Given the description of an element on the screen output the (x, y) to click on. 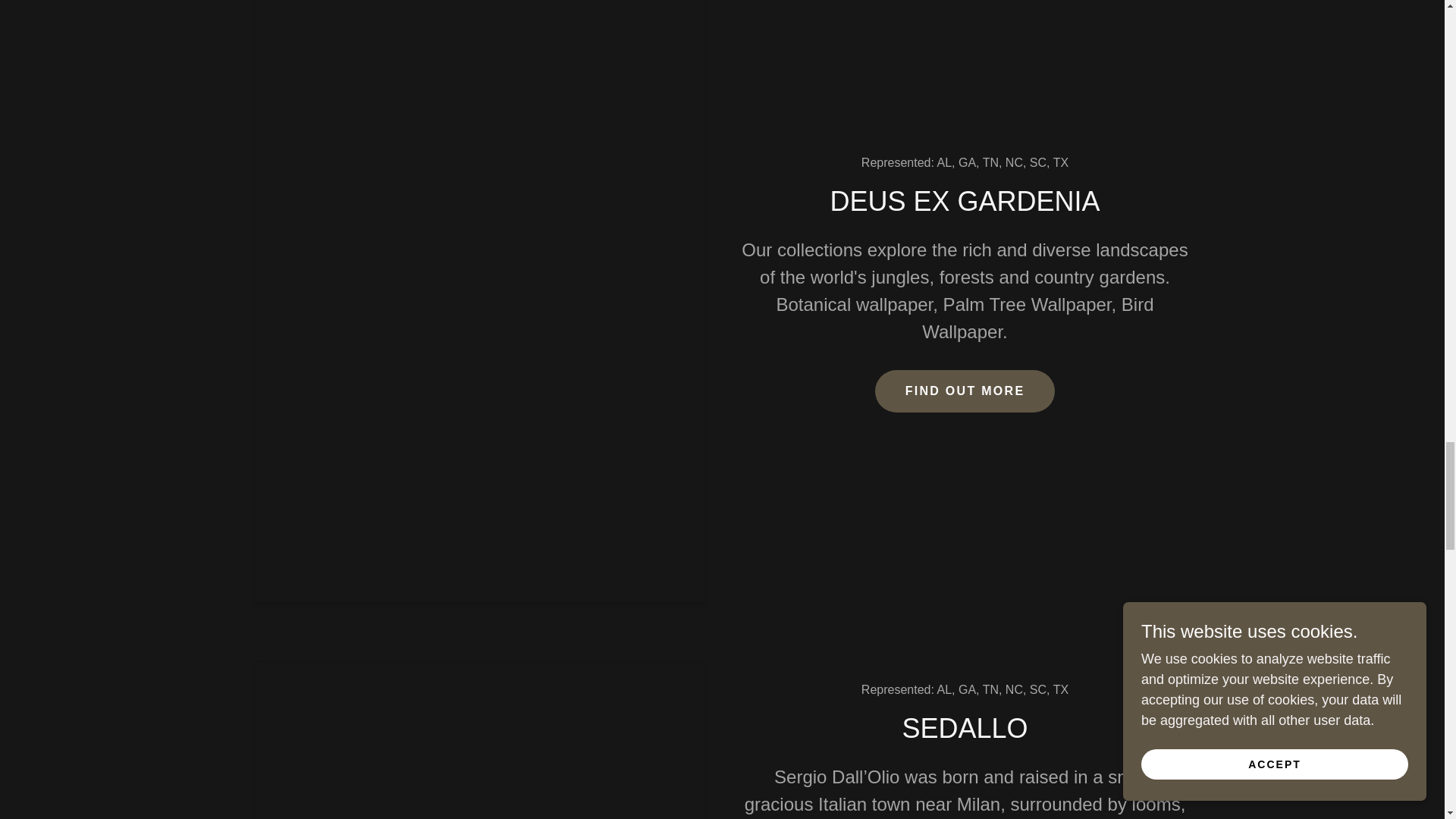
FIND OUT MORE (965, 391)
